Given the description of an element on the screen output the (x, y) to click on. 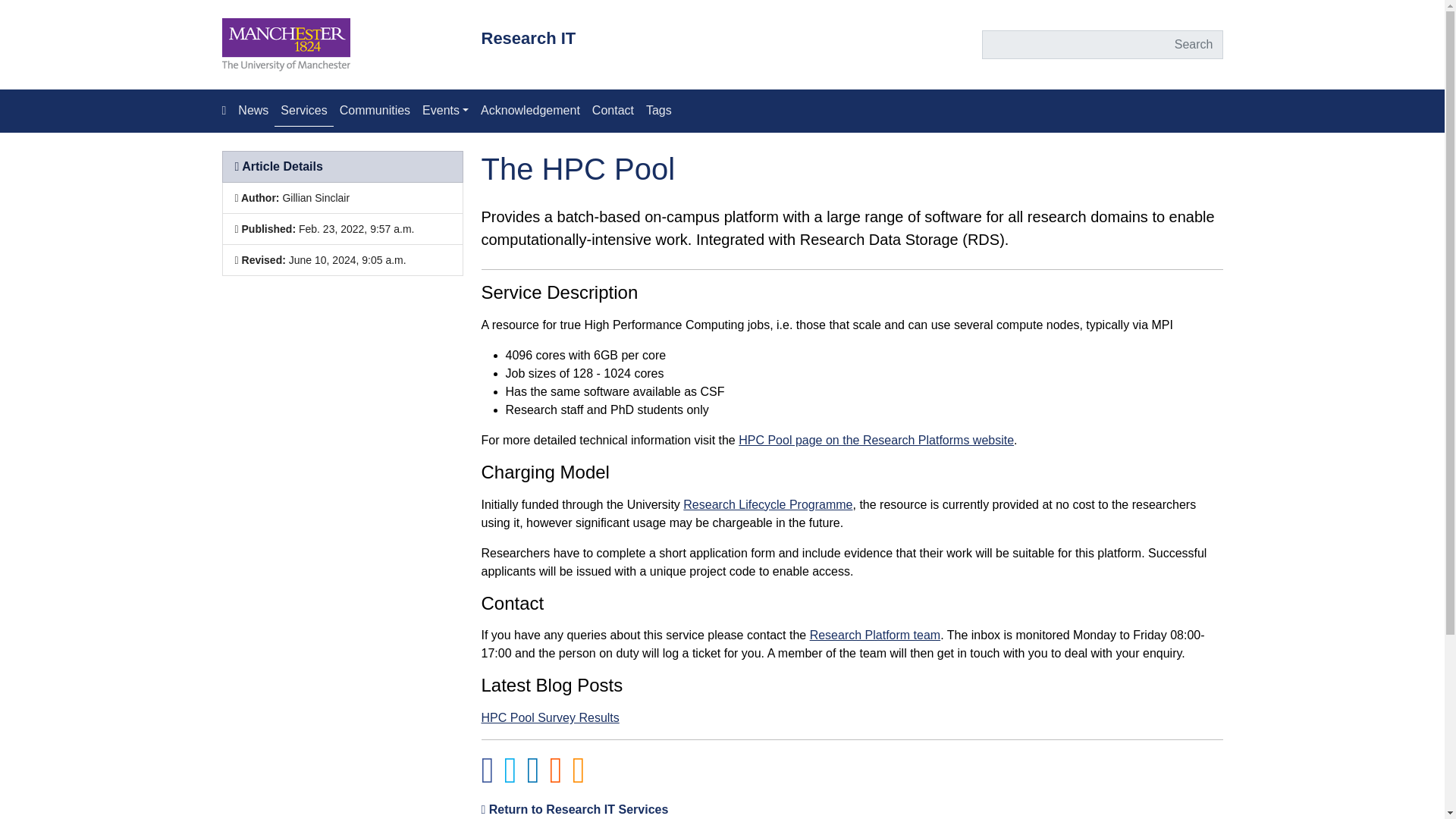
Acknowledgement (530, 110)
Contact (613, 110)
Research Lifecycle Programme (766, 504)
Events (445, 110)
Share via LinkedIn (532, 778)
Return to Research IT Services (574, 809)
Research Platform team (874, 634)
News (253, 110)
HPC Pool Survey Results (549, 717)
Communities (374, 110)
